Given the description of an element on the screen output the (x, y) to click on. 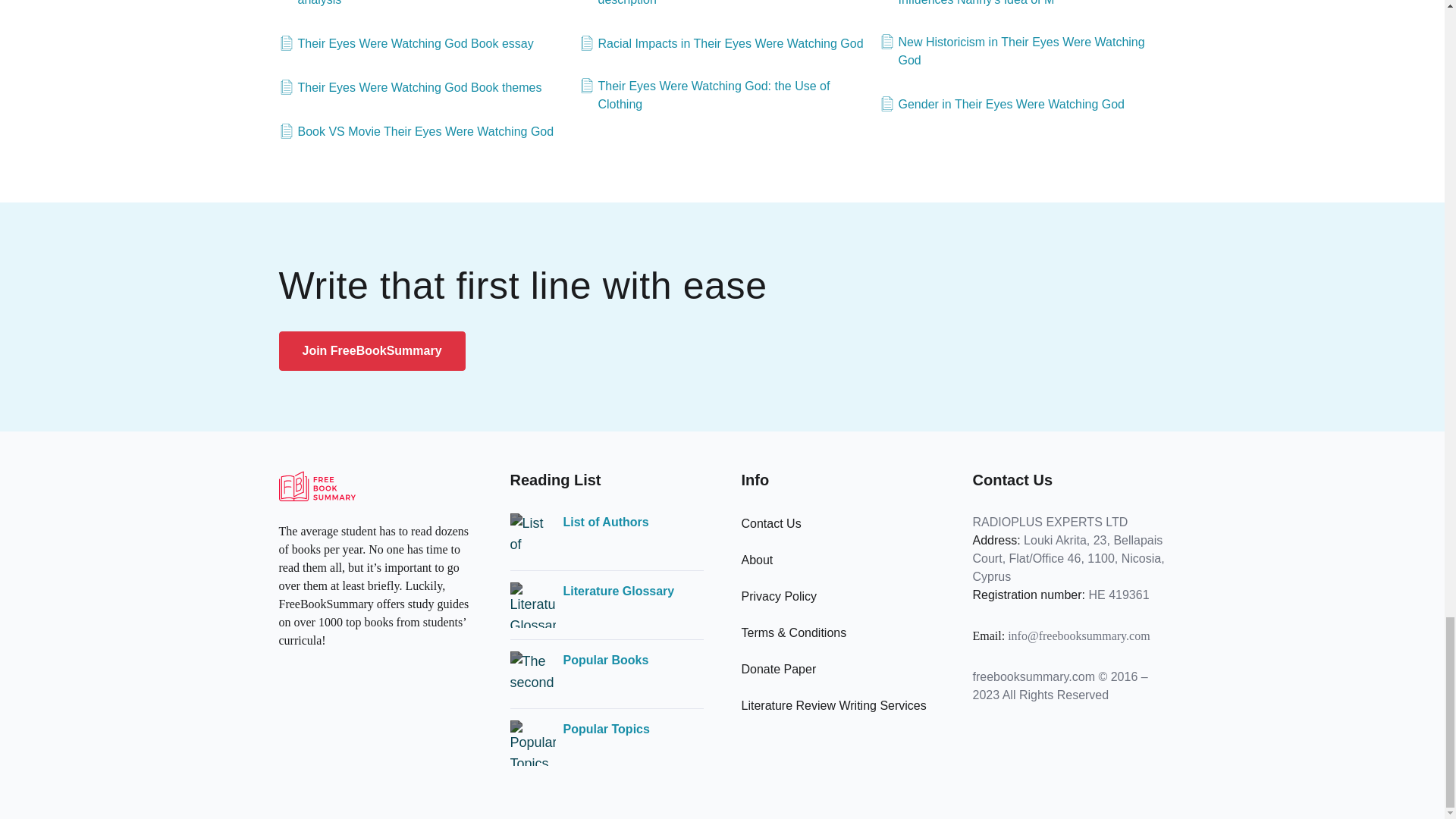
Popular Books (604, 660)
Literature Glossary (618, 591)
Their Eyes Were Watching God Book short analysis (422, 4)
Their Eyes Were Watching God: the Use of Clothing (722, 94)
New Historicism in Their Eyes Were Watching God (1022, 51)
List of Authors (604, 522)
Their Eyes Were Watching God Quotes Book description (722, 4)
Their Eyes Were Watching God Book essay (406, 44)
Gender in Their Eyes Were Watching God (1002, 104)
Racial Impacts in Their Eyes Were Watching God (721, 44)
Book VS Movie Their Eyes Were Watching God (416, 131)
Their Eyes Were Watching God Book themes (410, 87)
